Given the description of an element on the screen output the (x, y) to click on. 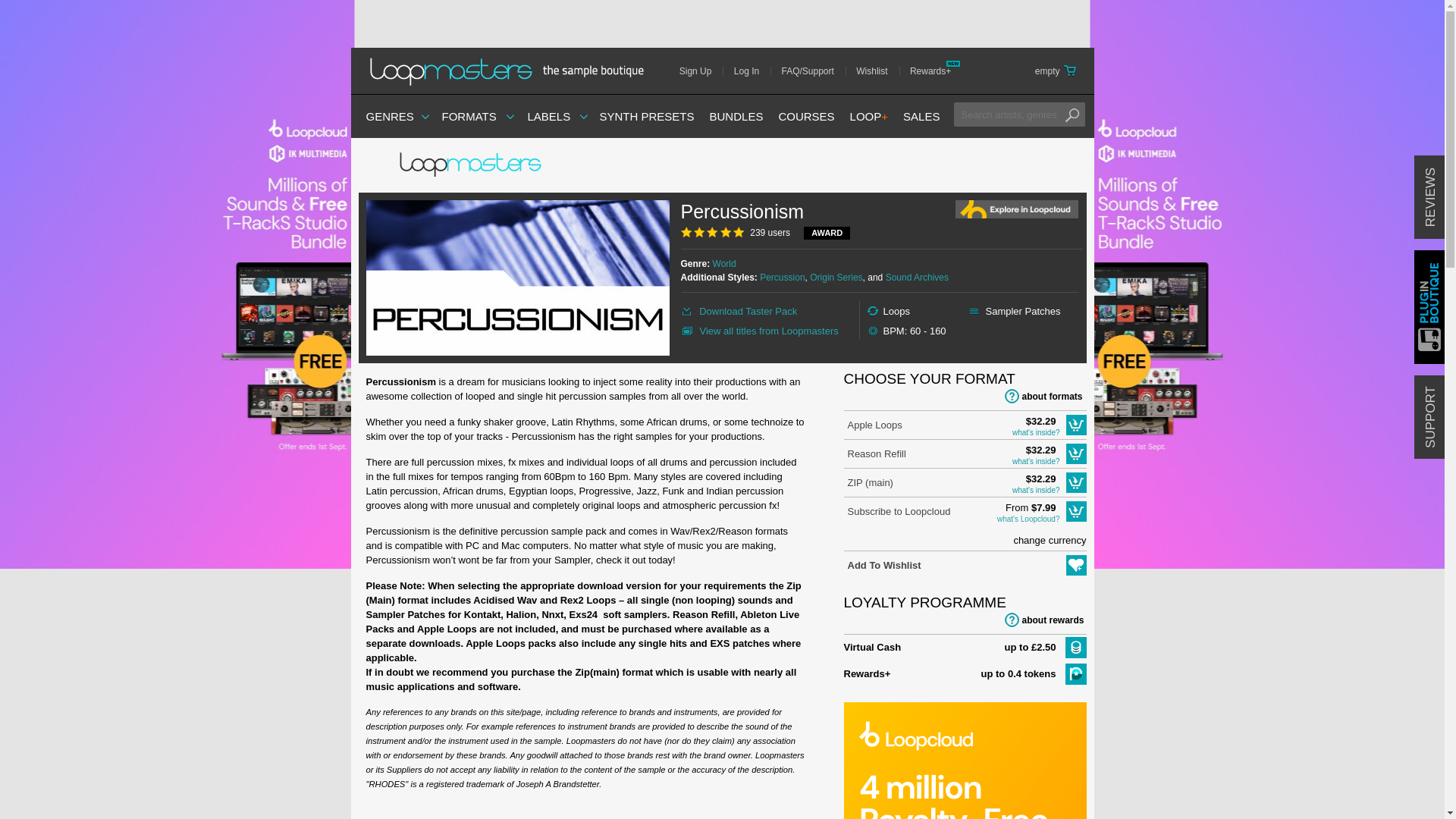
Support and frequently questioned answers (812, 71)
Log In (752, 71)
Show all genres (389, 115)
Sign Up (701, 71)
Sign Up (701, 71)
Wishlist (877, 71)
Loopmasters - the sample boutique (511, 71)
Log In (752, 71)
Wishlist (877, 71)
GENRES (389, 115)
